Given the description of an element on the screen output the (x, y) to click on. 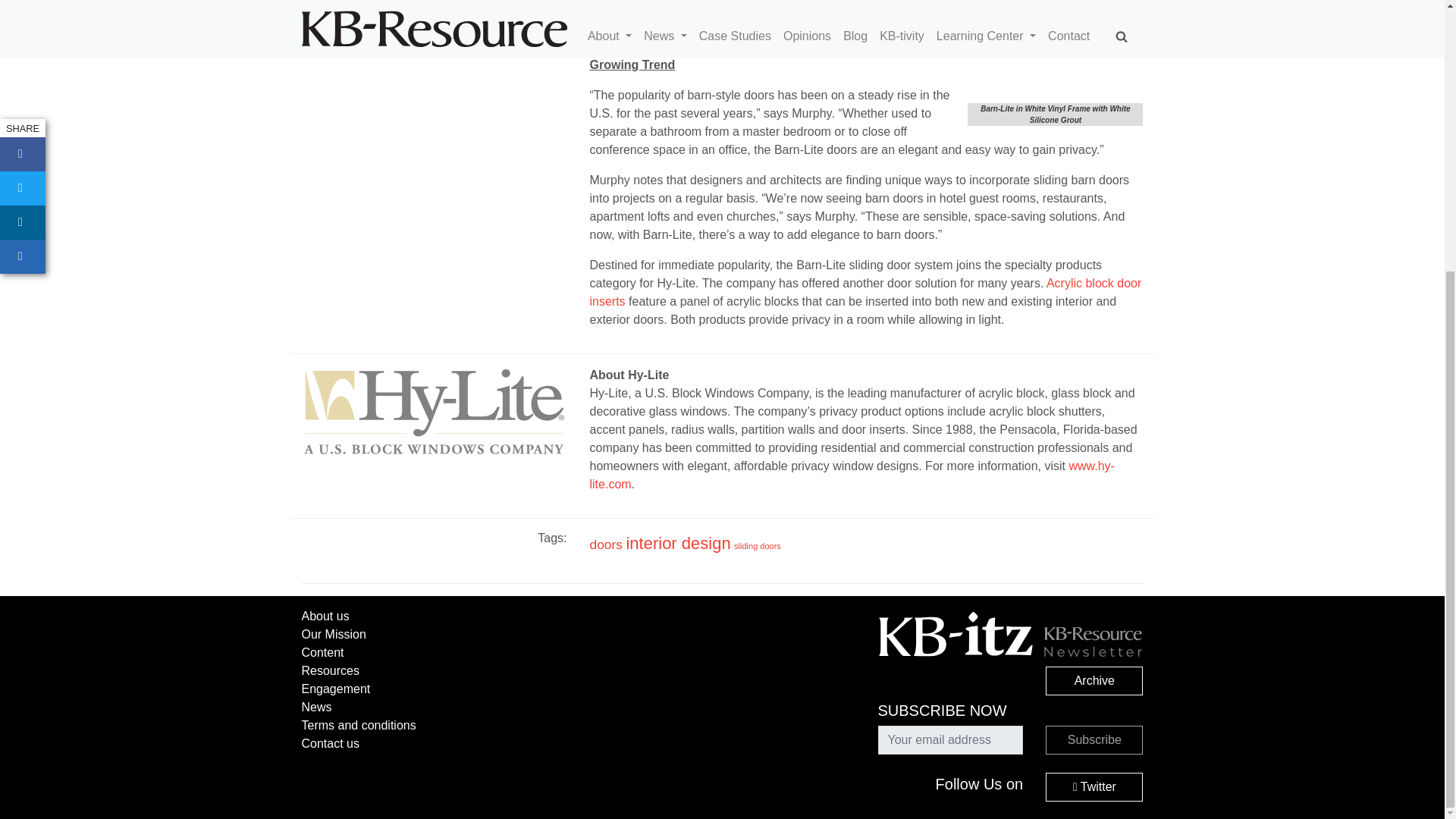
doors (606, 544)
sliding doors (756, 545)
Acrylic block door inserts (865, 291)
interior design (678, 542)
www.hy-lite.com (851, 474)
Content (322, 652)
Subscribe (1093, 739)
About us (325, 615)
Our Mission (333, 634)
